Given the description of an element on the screen output the (x, y) to click on. 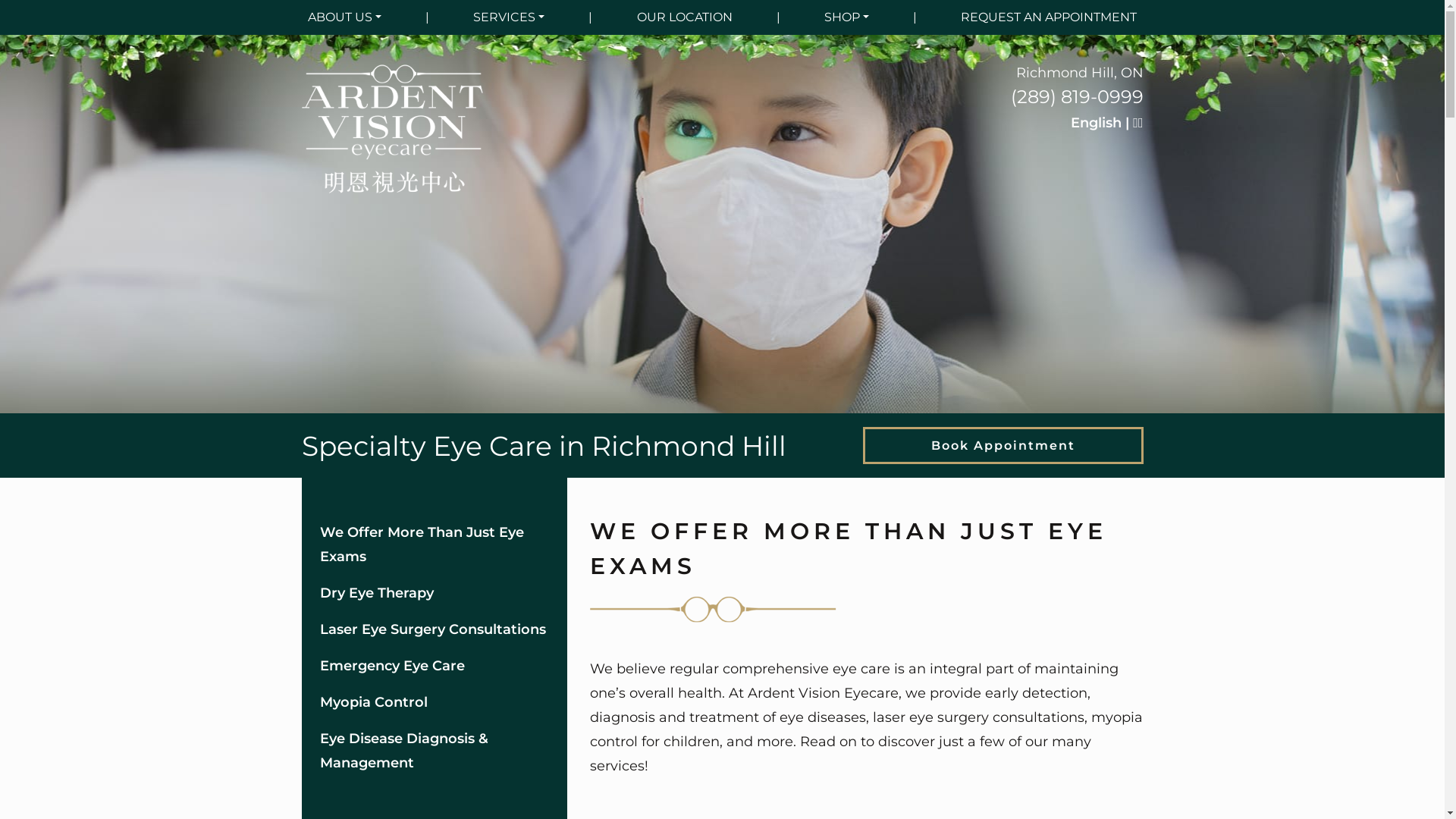
Myopia Control Element type: text (434, 702)
SERVICES Element type: text (508, 17)
REQUEST AN APPOINTMENT Element type: text (1048, 17)
(289) 819-0999 Element type: text (1076, 96)
Emergency Eye Care Element type: text (434, 665)
Laser Eye Surgery Consultations Element type: text (434, 629)
English Element type: text (1095, 122)
Book Appointment Element type: text (1002, 445)
We Offer More Than Just Eye Exams Element type: text (434, 544)
OUR LOCATION Element type: text (684, 17)
ABOUT US Element type: text (344, 17)
SHOP Element type: text (846, 17)
Dry Eye Therapy Element type: text (434, 592)
Eye Disease Diagnosis & Management Element type: text (434, 750)
